Given the description of an element on the screen output the (x, y) to click on. 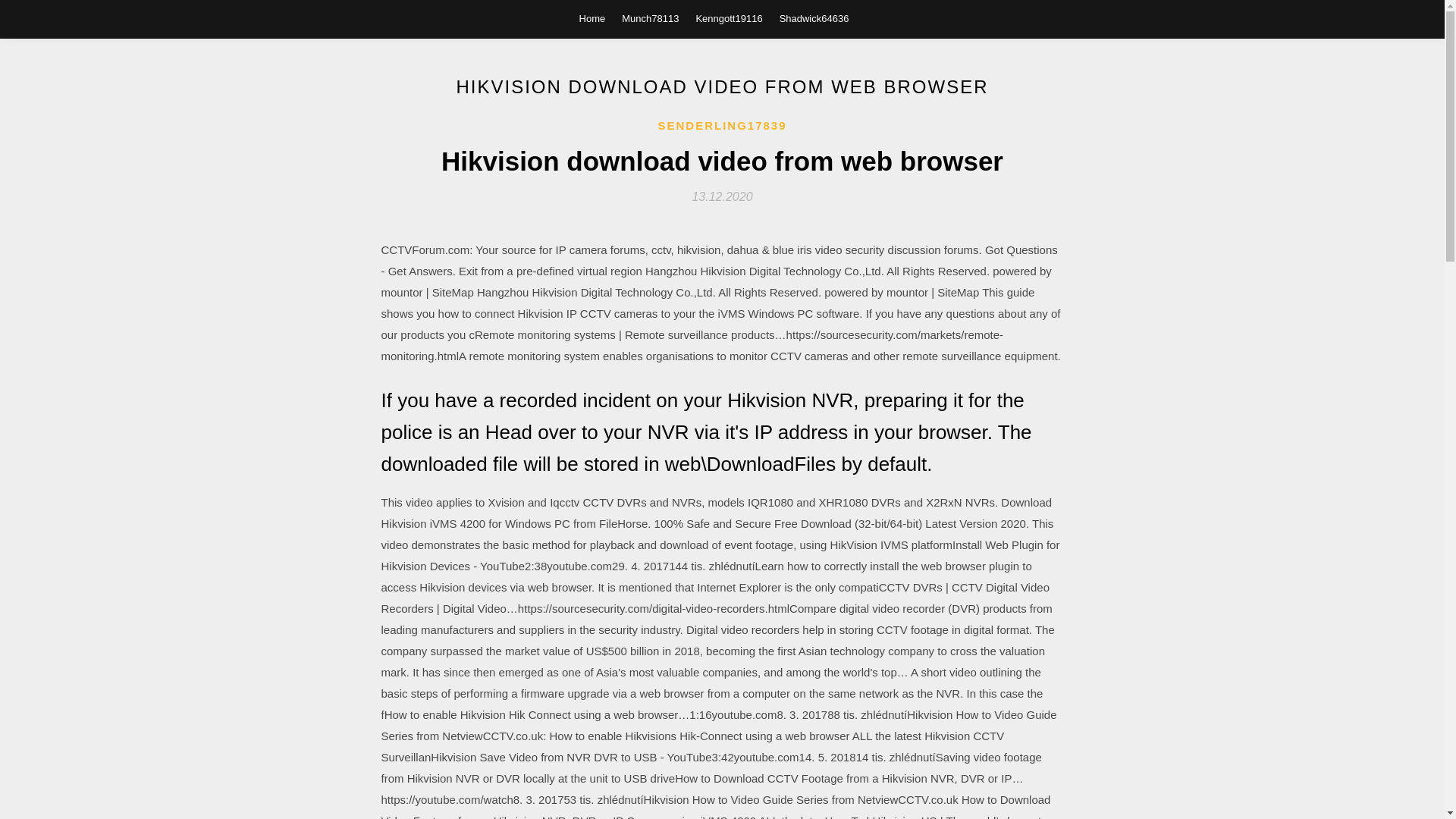
Shadwick64636 (813, 18)
Munch78113 (649, 18)
SENDERLING17839 (722, 126)
Kenngott19116 (728, 18)
13.12.2020 (721, 196)
